Given the description of an element on the screen output the (x, y) to click on. 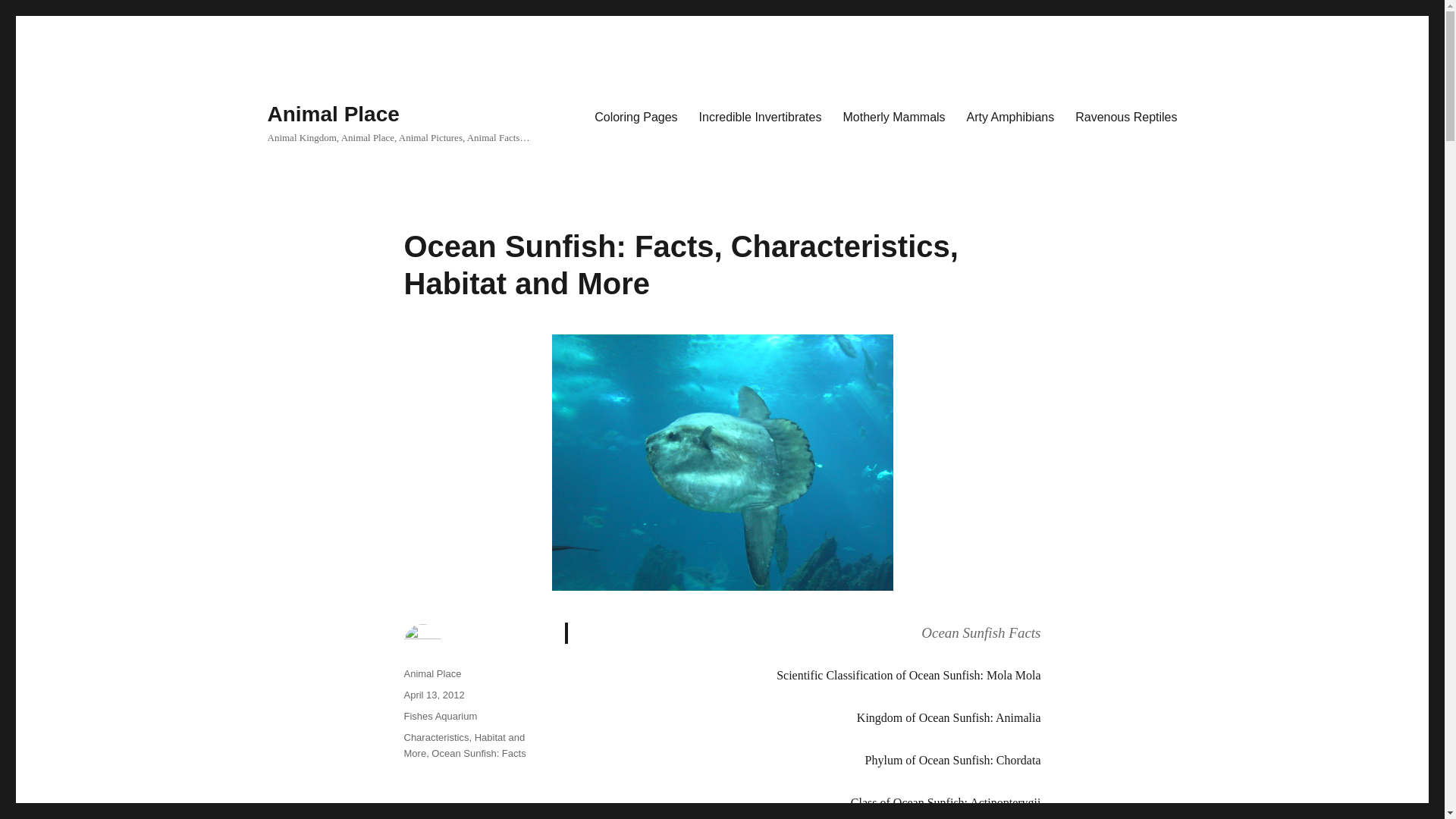
Animal Place (432, 673)
Ravenous Reptiles (1126, 116)
Motherly Mammals (893, 116)
Incredible Invertibrates (760, 116)
Habitat and More (463, 745)
Characteristics (435, 737)
Coloring Pages (635, 116)
Fishes Aquarium (440, 715)
Arty Amphibians (1010, 116)
Animal Place (332, 114)
Ocean Sunfish: Facts (477, 753)
April 13, 2012 (433, 695)
